Given the description of an element on the screen output the (x, y) to click on. 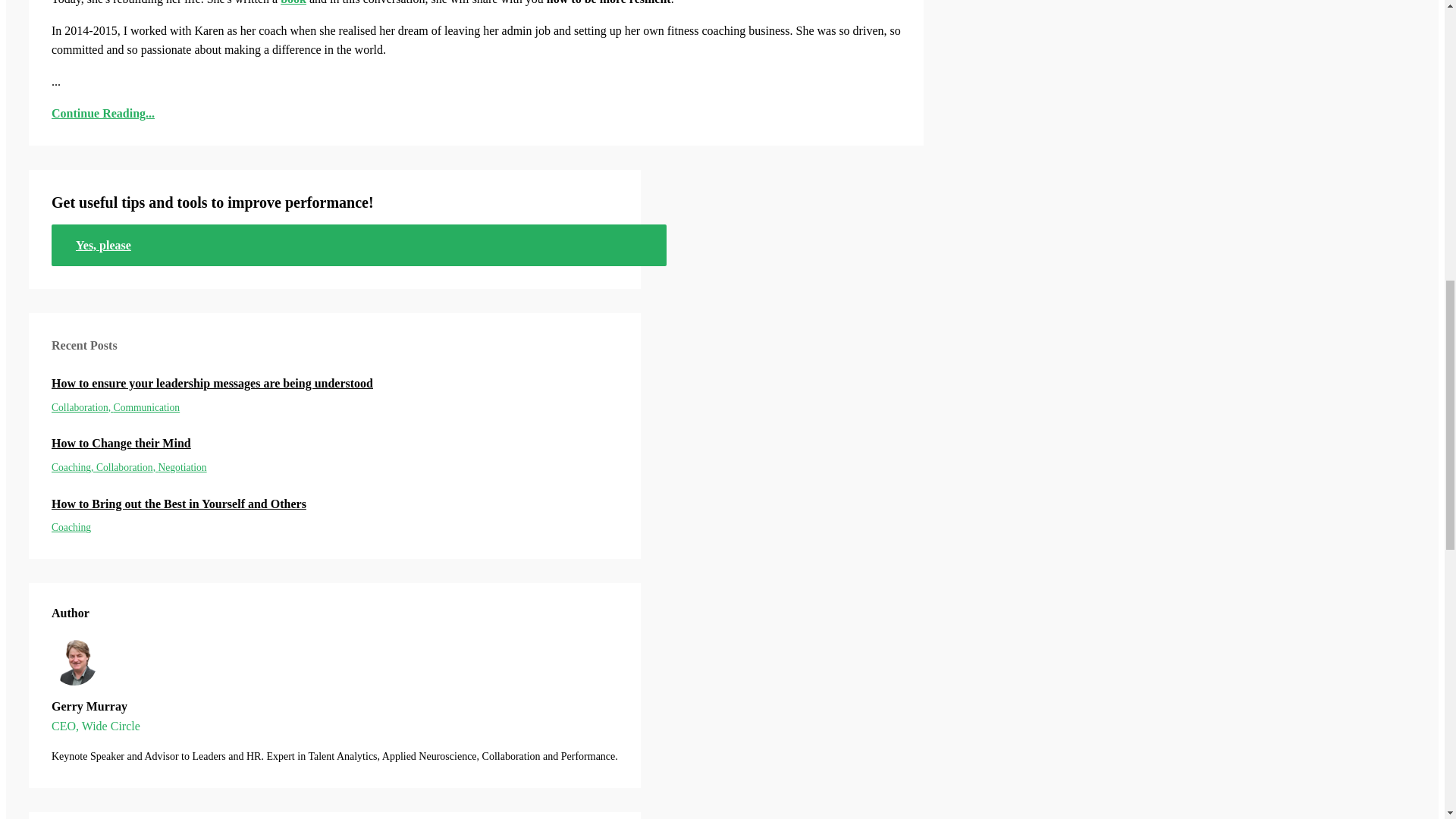
Negotiation (181, 467)
Communication (146, 407)
Continue Reading... (475, 113)
Coaching (73, 467)
Yes, please (358, 245)
How to Bring out the Best in Yourself and Others (333, 504)
Collaboration (81, 407)
How to Change their Mind (333, 443)
book (293, 2)
Coaching (70, 527)
